Given the description of an element on the screen output the (x, y) to click on. 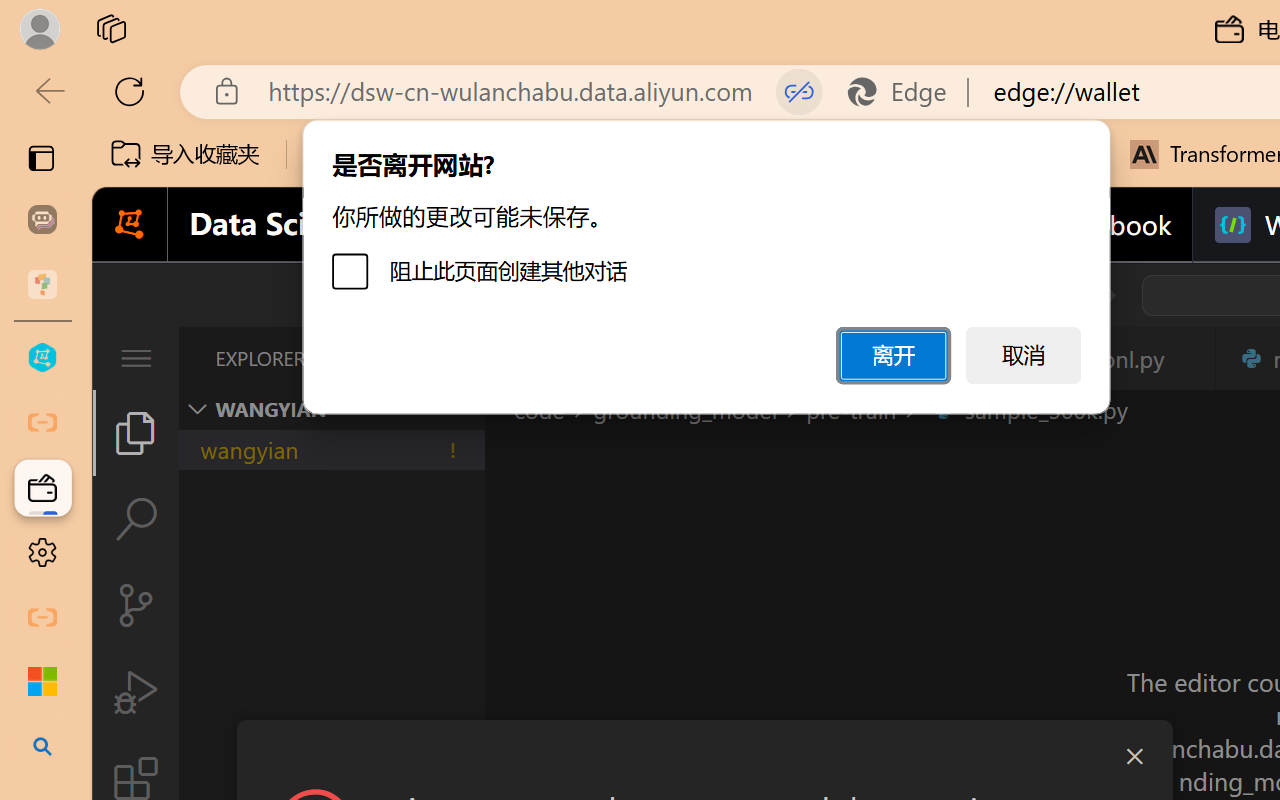
Application Menu (135, 358)
Source Control (Ctrl+Shift+G) (135, 604)
wangyian_dsw - DSW (42, 357)
